Given the description of an element on the screen output the (x, y) to click on. 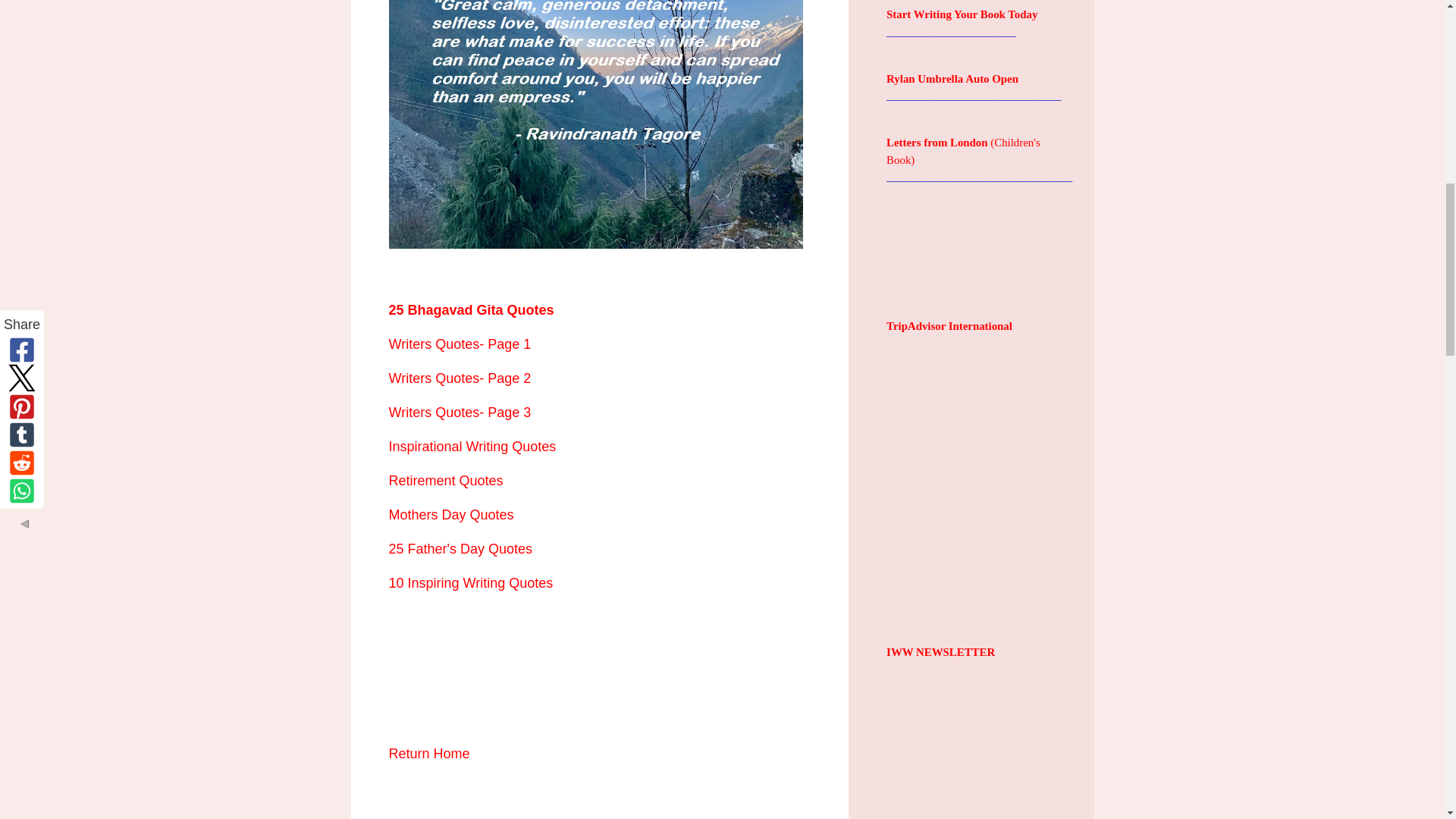
quote-tagore-1 (595, 124)
